Given the description of an element on the screen output the (x, y) to click on. 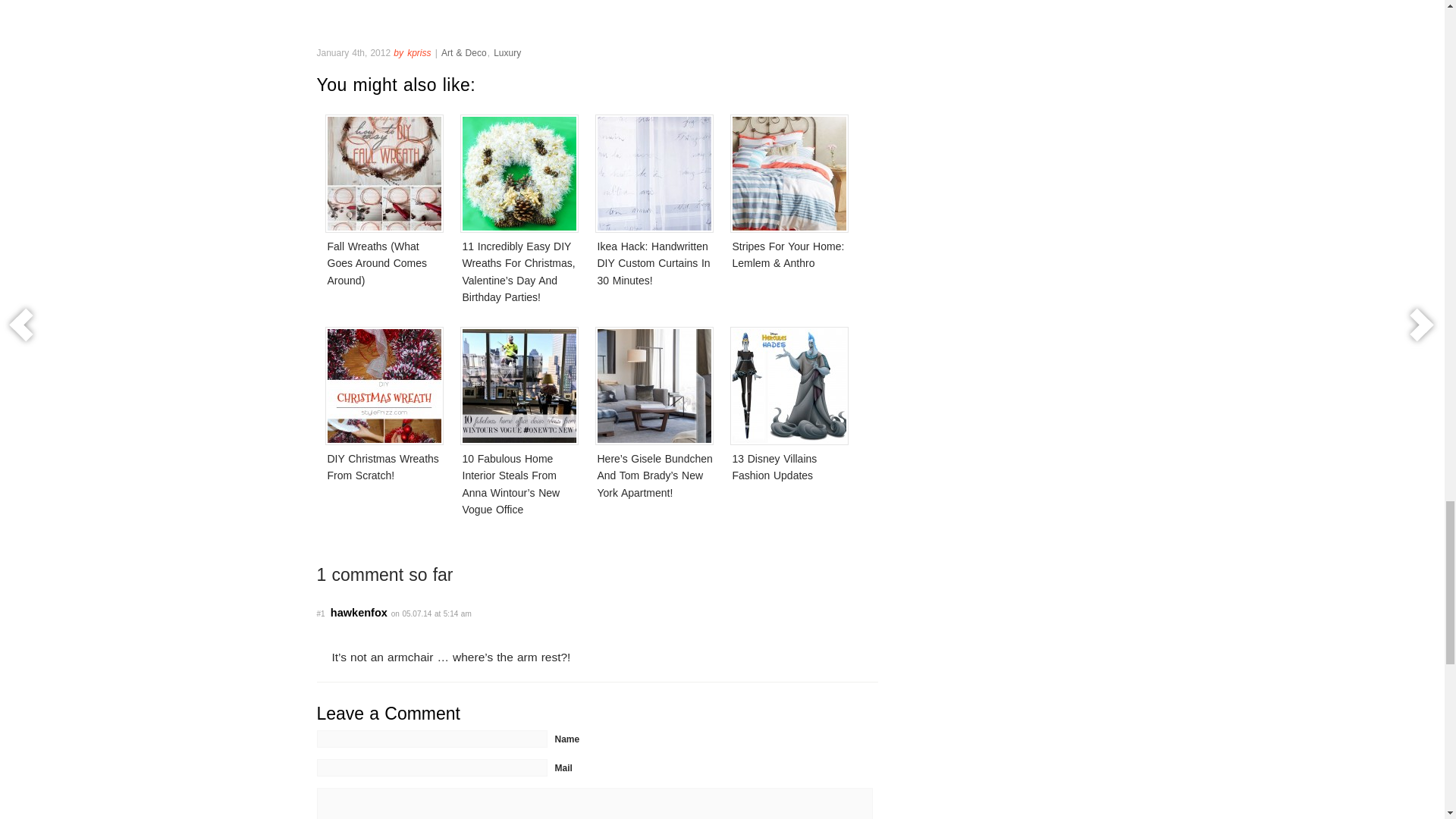
Luxury (507, 52)
Ikea Hack: Handwritten DIY Custom Curtains In 30 Minutes! (653, 211)
kpriss (419, 52)
Permalink to this comment (320, 613)
DIY Christmas Wreaths From Scratch! (383, 423)
13 Disney Villains Fashion Updates (789, 423)
